Given the description of an element on the screen output the (x, y) to click on. 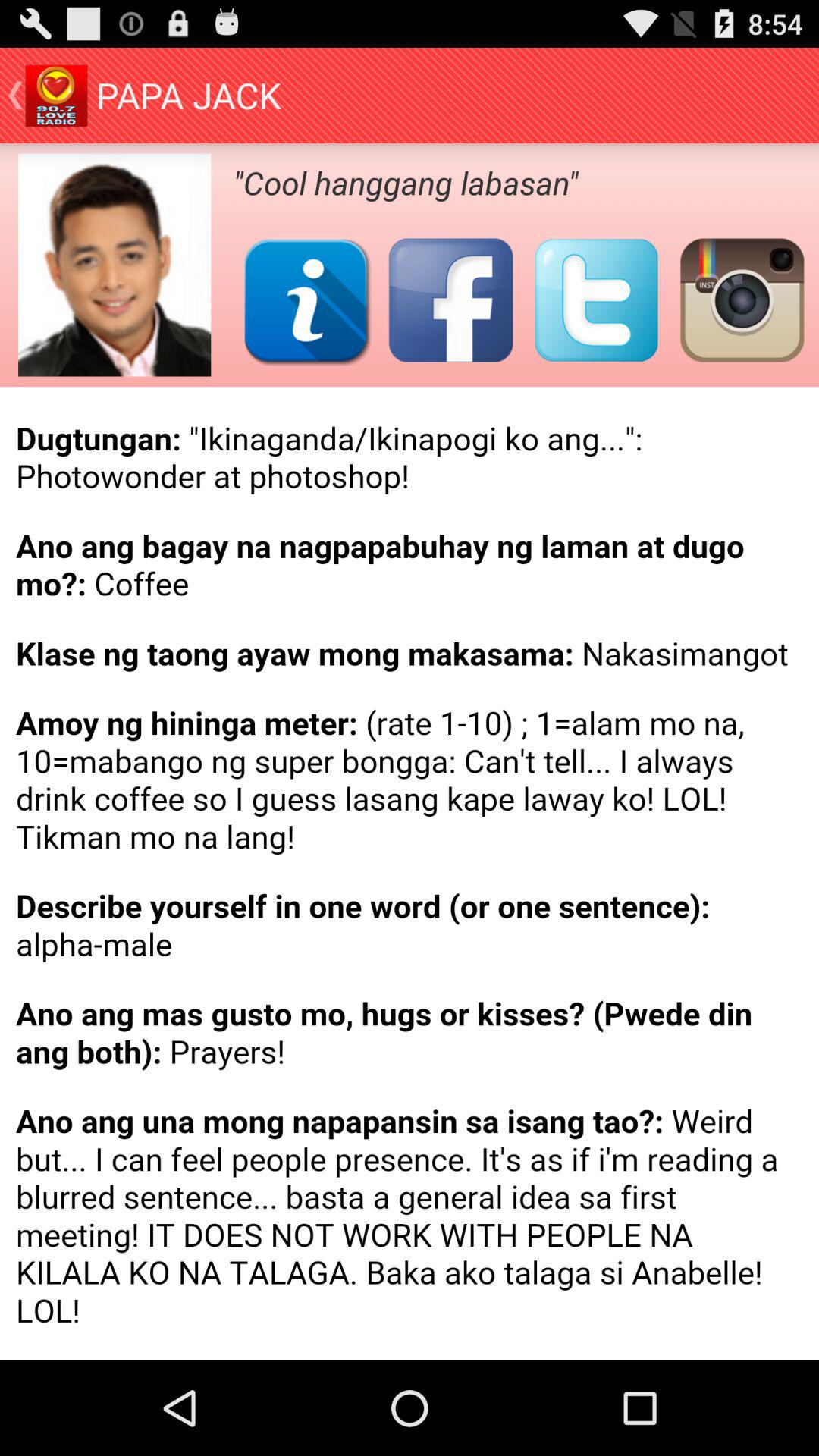
message (409, 873)
